Given the description of an element on the screen output the (x, y) to click on. 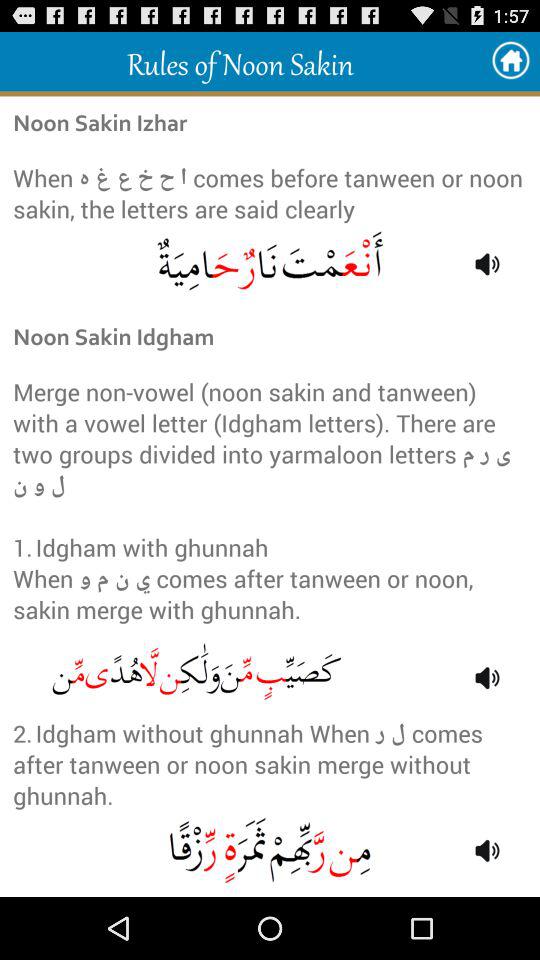
tap the app to the right of rules of noon icon (510, 60)
